Given the description of an element on the screen output the (x, y) to click on. 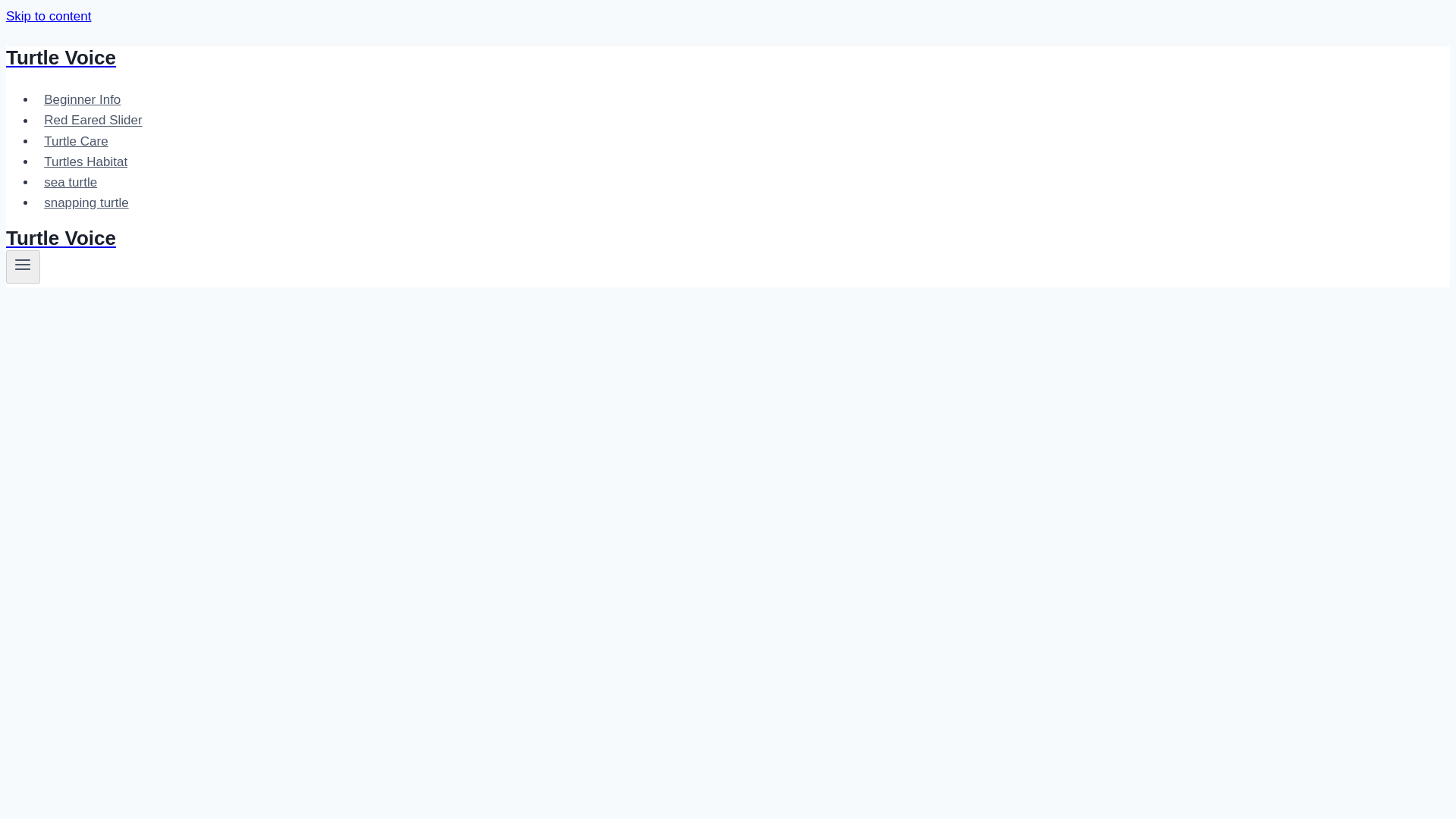
Toggle Menu (22, 264)
snapping turtle (86, 202)
Skip to content (47, 16)
sea turtle (70, 182)
Beginner Info (82, 99)
Turtle Voice (494, 237)
Skip to content (47, 16)
Red Eared Slider (92, 120)
Turtles Habitat (85, 161)
Turtle Care (76, 141)
